Given the description of an element on the screen output the (x, y) to click on. 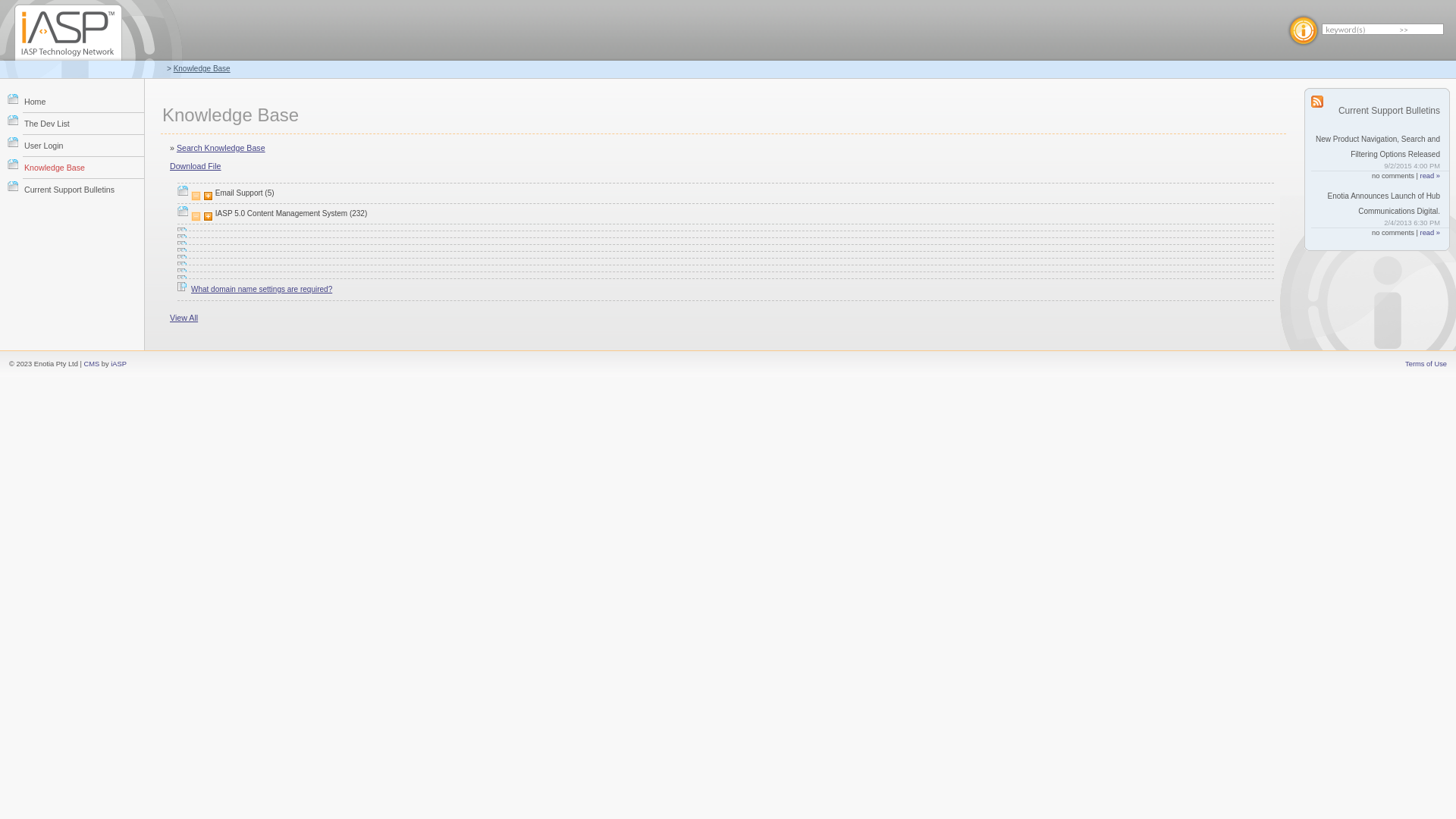
User Login Element type: text (83, 145)
iASP Element type: text (118, 363)
What domain name settings are required? Element type: text (261, 289)
View All Element type: text (183, 317)
Knowledge Base Element type: text (83, 167)
Search Knowledge Base Element type: text (220, 147)
The Dev List Element type: text (83, 123)
Current Support Bulletins Element type: text (83, 189)
Download File Element type: text (195, 165)
Home Element type: text (83, 101)
Terms of Use Element type: text (1425, 363)
CMS Element type: text (91, 363)
Knowledge Base Element type: text (201, 68)
